Given the description of an element on the screen output the (x, y) to click on. 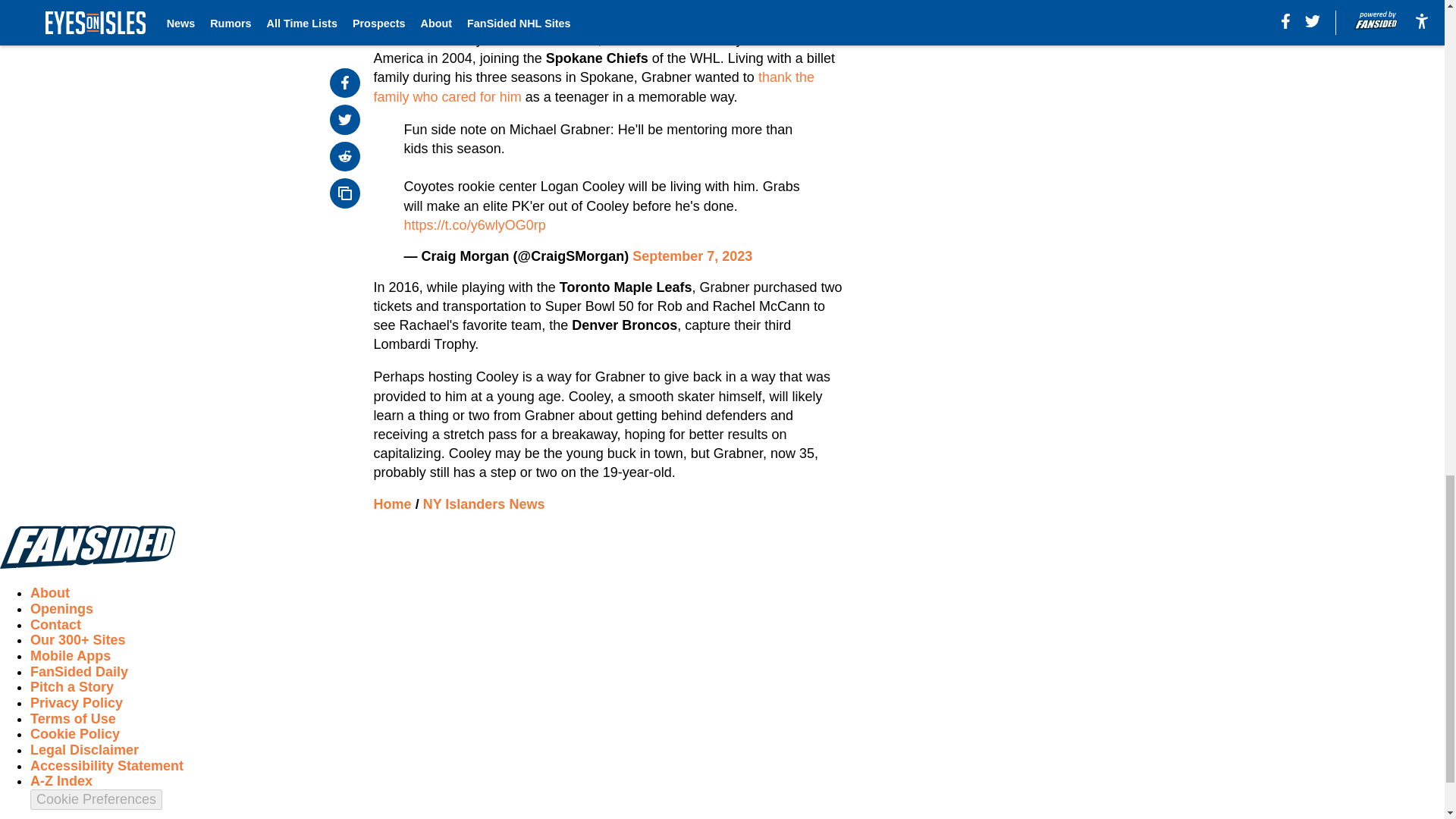
FanSided Daily (79, 671)
Pitch a Story (71, 686)
NY Islanders News (483, 503)
Contact (55, 624)
About (49, 592)
thank the family who cared for him (593, 86)
Mobile Apps (70, 655)
Openings (61, 608)
September 7, 2023 (691, 255)
Home (393, 503)
